Given the description of an element on the screen output the (x, y) to click on. 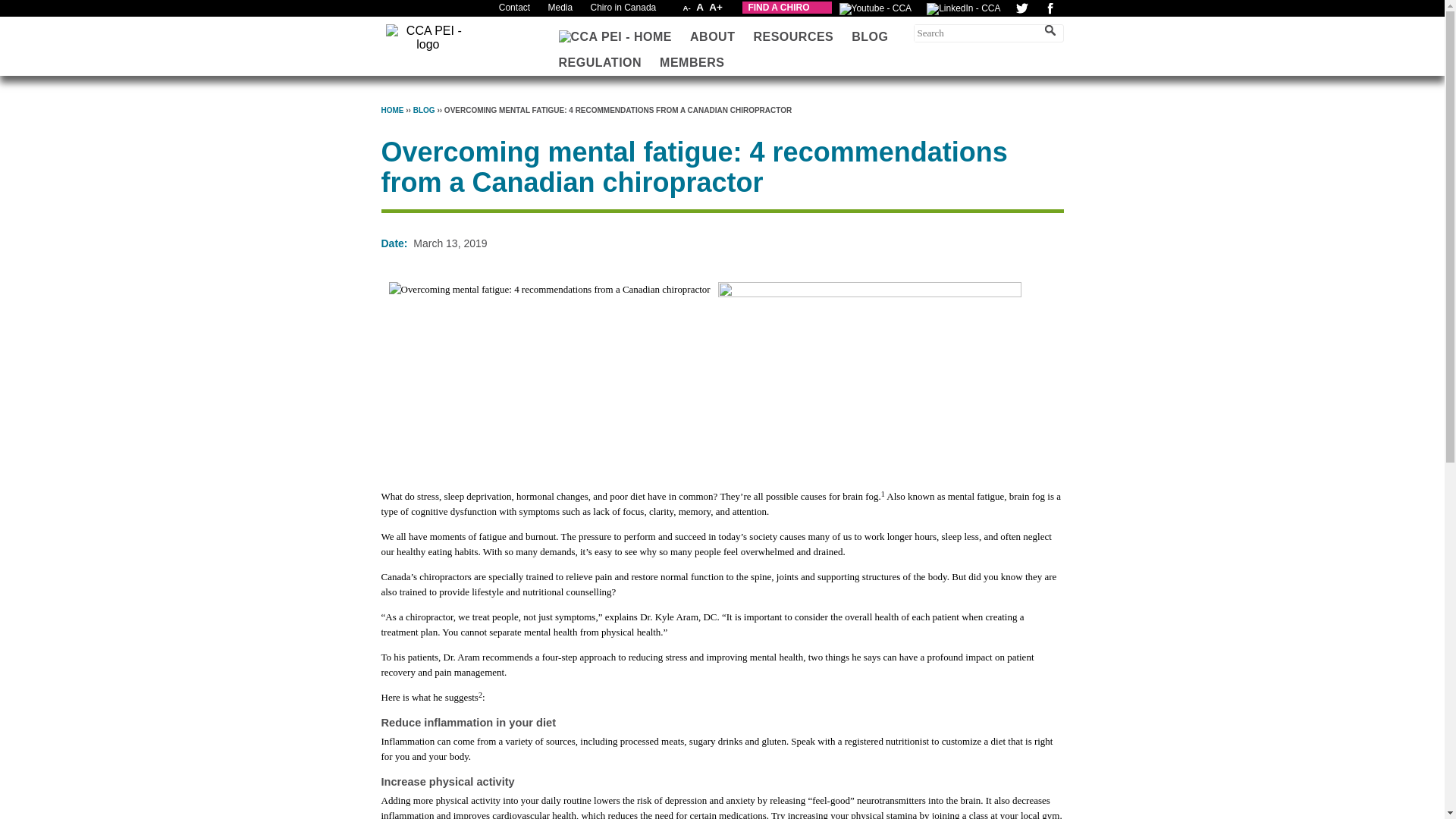
Media (559, 7)
FIND A CHIRO (786, 7)
Blog (424, 110)
A- (687, 7)
Contact (514, 7)
Chiro in Canada (623, 7)
